Given the description of an element on the screen output the (x, y) to click on. 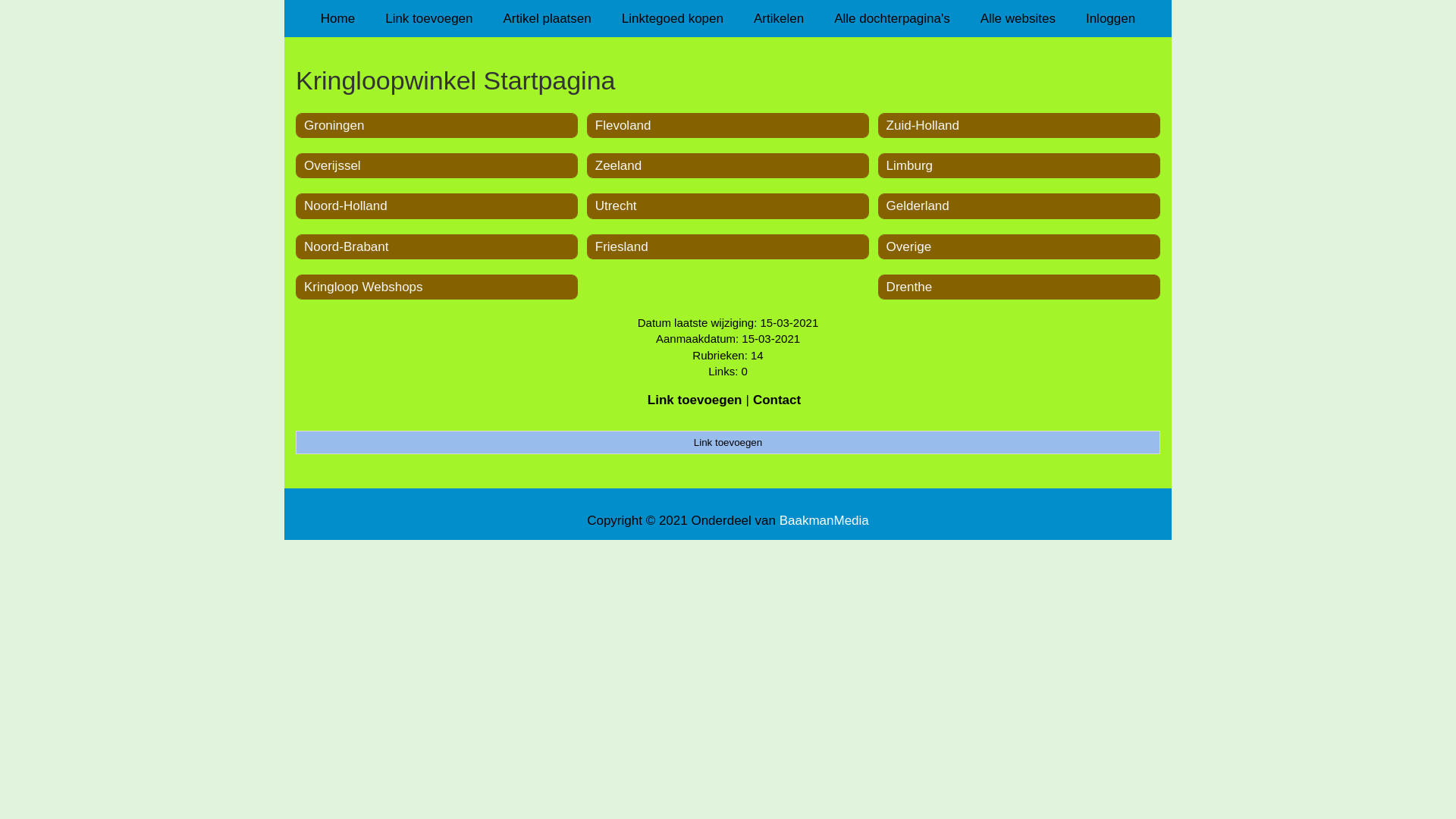
Utrecht Element type: text (616, 205)
Gelderland Element type: text (917, 205)
Link toevoegen Element type: text (694, 399)
Link toevoegen Element type: text (727, 441)
BaakmanMedia Element type: text (824, 520)
Kringloopwinkel Startpagina Element type: text (727, 80)
Link toevoegen Element type: text (428, 18)
Noord-Holland Element type: text (345, 205)
Home Element type: text (337, 18)
Zuid-Holland Element type: text (922, 125)
Flevoland Element type: text (623, 125)
Artikel plaatsen Element type: text (547, 18)
Linktegoed kopen Element type: text (672, 18)
Overijssel Element type: text (332, 165)
Drenthe Element type: text (908, 286)
Limburg Element type: text (909, 165)
Alle dochterpagina's Element type: text (892, 18)
Zeeland Element type: text (618, 165)
Inloggen Element type: text (1110, 18)
Overige Element type: text (908, 246)
Kringloop Webshops Element type: text (363, 286)
Artikelen Element type: text (778, 18)
Alle websites Element type: text (1017, 18)
Noord-Brabant Element type: text (346, 246)
Contact Element type: text (776, 399)
Groningen Element type: text (334, 125)
Friesland Element type: text (621, 246)
